Given the description of an element on the screen output the (x, y) to click on. 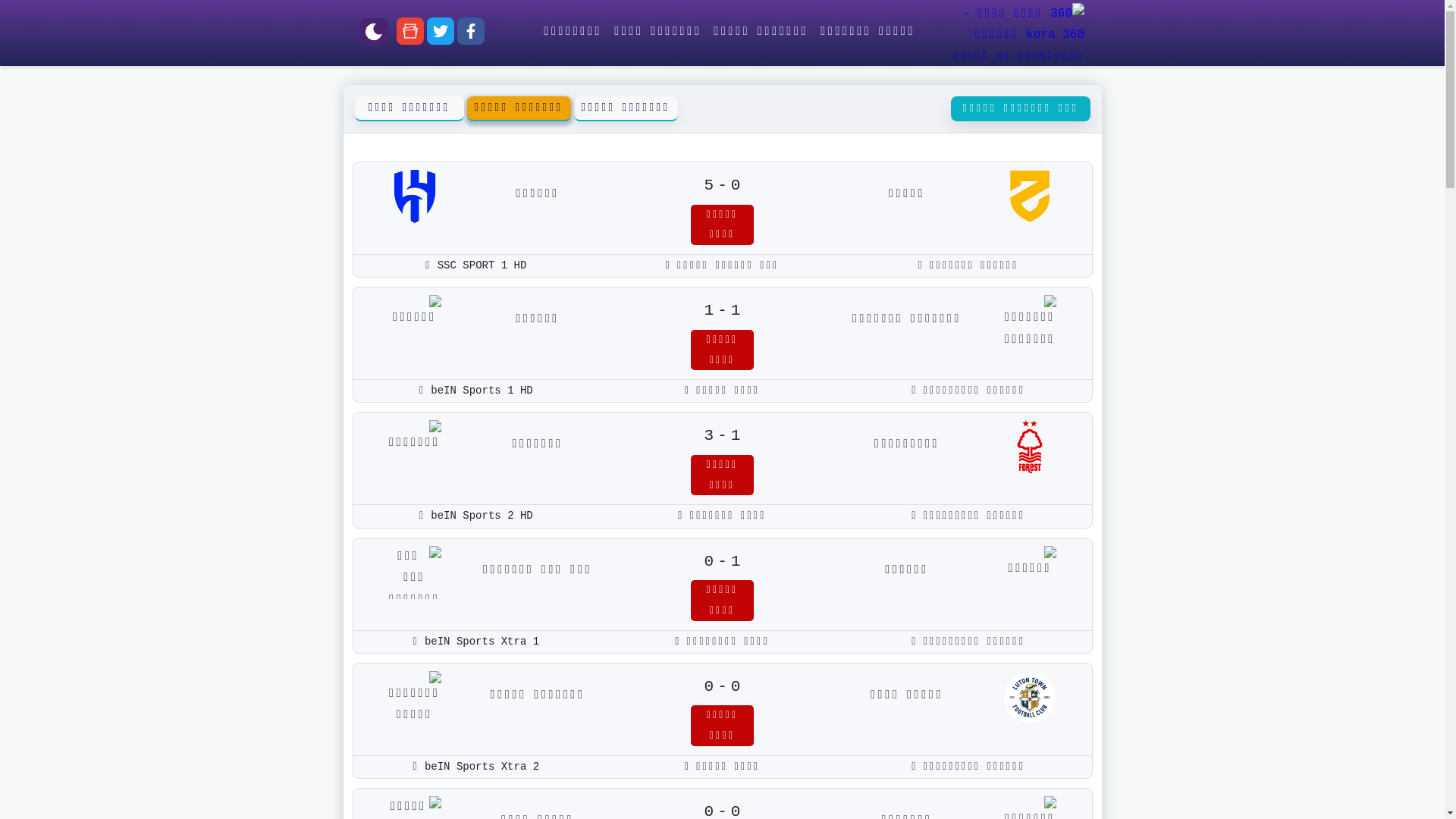
facebook Element type: hover (470, 35)
google-news Element type: hover (409, 35)
twitter Element type: hover (440, 35)
